Given the description of an element on the screen output the (x, y) to click on. 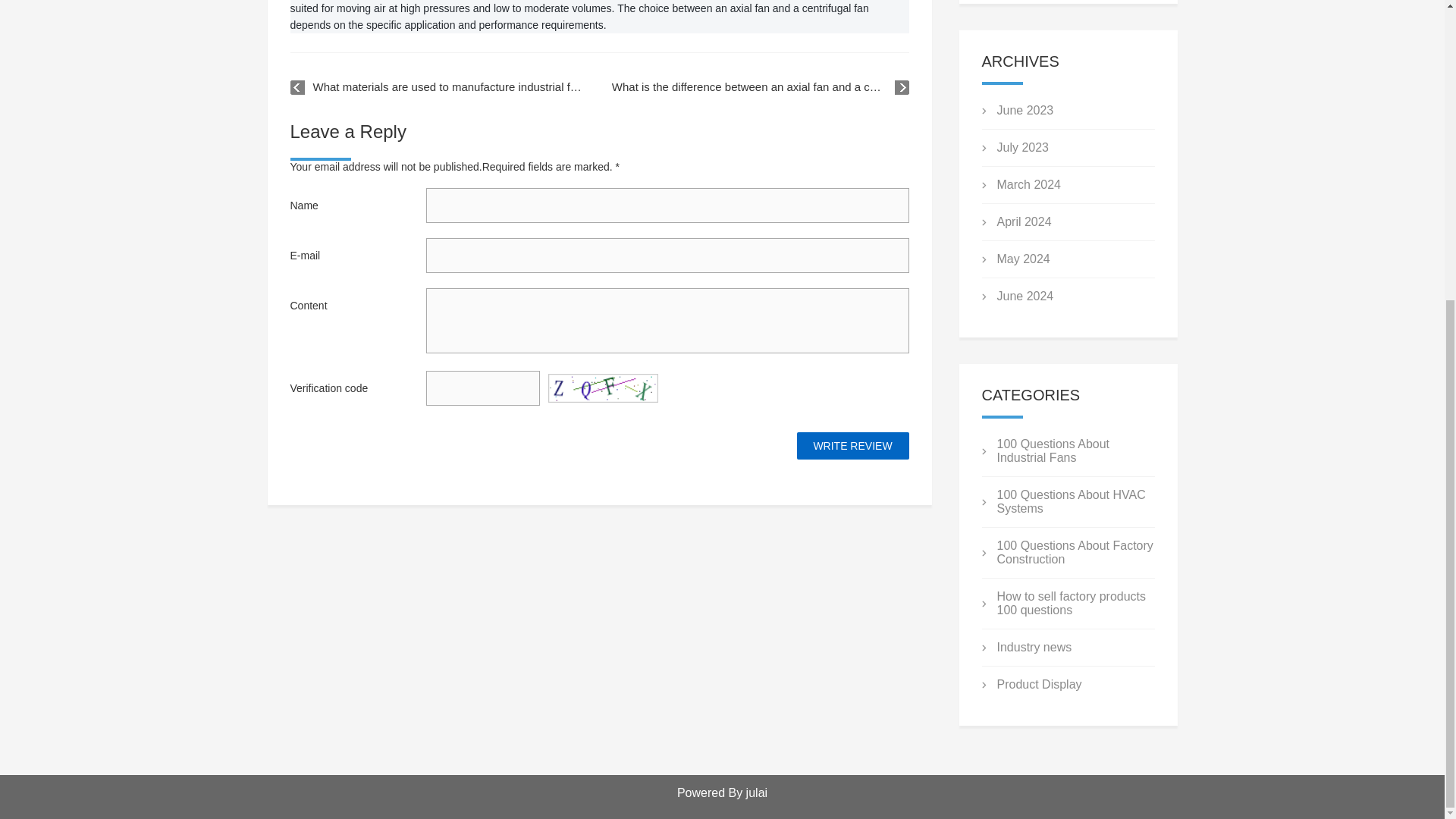
WRITE REVIEW (852, 445)
100 Questions About HVAC Systems (1069, 501)
June 2024 (1023, 295)
100 Questions About Industrial Fans (1052, 450)
July 2023 (1021, 146)
100 Questions About Factory Construction (1074, 551)
March 2024 (1028, 184)
Industry news (1033, 646)
What materials are used to manufacture industrial fans? (437, 87)
April 2024 (1023, 221)
May 2024 (1022, 258)
WRITE REVIEW (852, 445)
June 2023 (1023, 110)
